Given the description of an element on the screen output the (x, y) to click on. 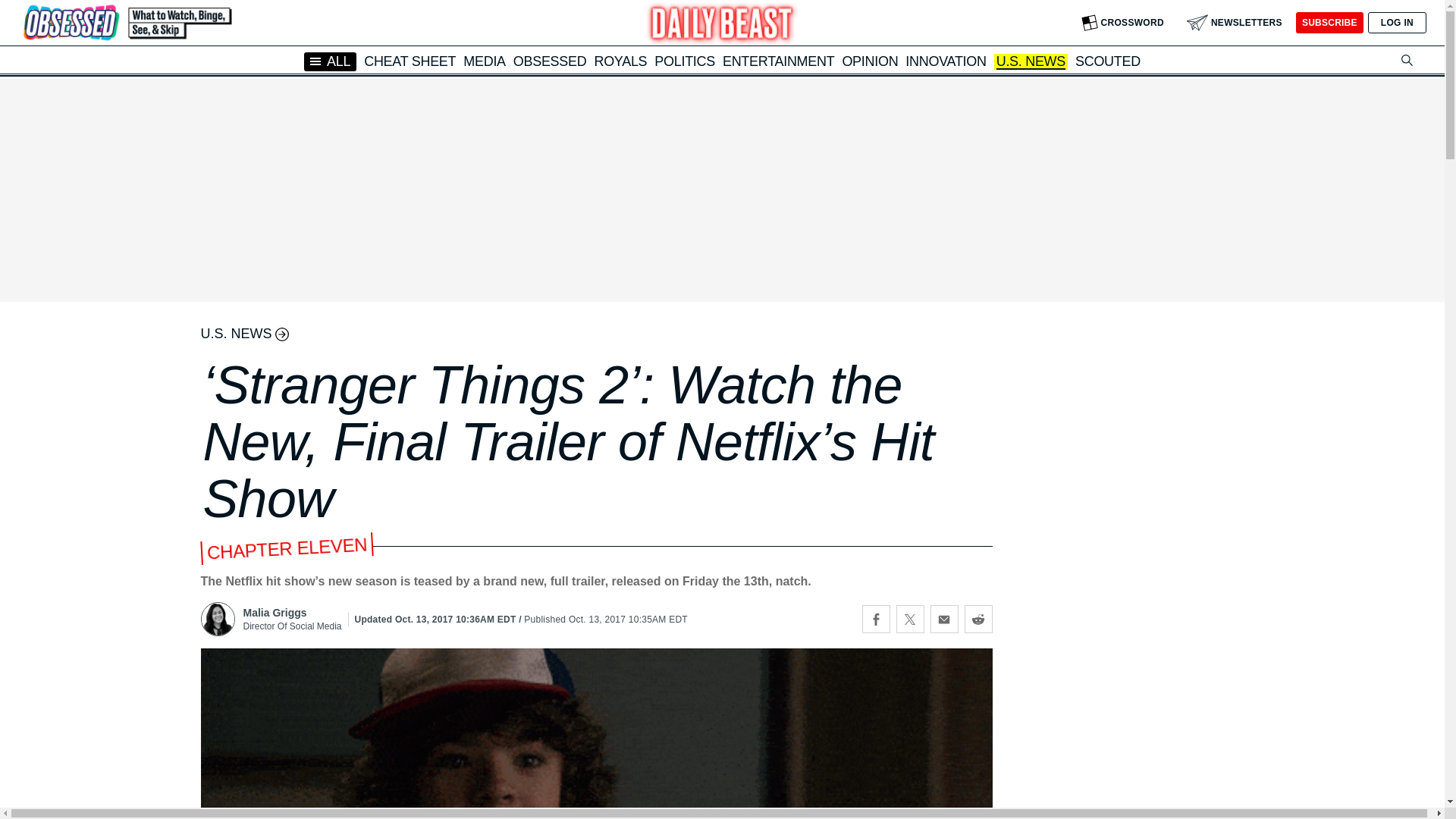
U.S. NEWS (1030, 61)
CHEAT SHEET (409, 60)
POLITICS (683, 60)
ALL (330, 60)
OBSESSED (549, 60)
NEWSLETTERS (1234, 22)
INNOVATION (945, 60)
OPINION (869, 60)
ROYALS (620, 60)
CROSSWORD (1122, 22)
MEDIA (484, 60)
SCOUTED (1107, 60)
SUBSCRIBE (1328, 22)
ENTERTAINMENT (778, 60)
LOG IN (1397, 22)
